Given the description of an element on the screen output the (x, y) to click on. 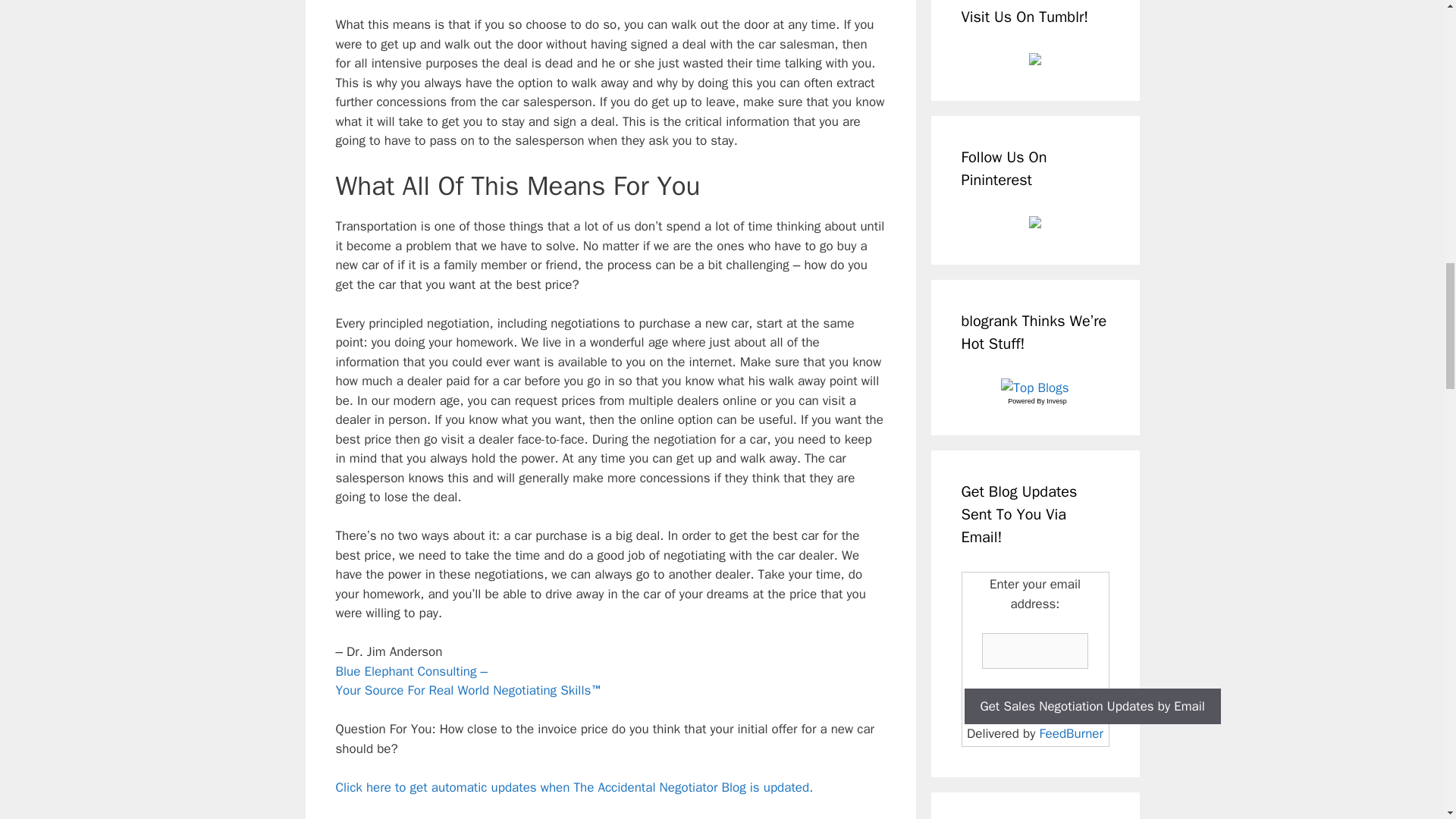
Get Sales Negotiation Updates by Email (1092, 706)
Subscribe to my feed (573, 787)
